Given the description of an element on the screen output the (x, y) to click on. 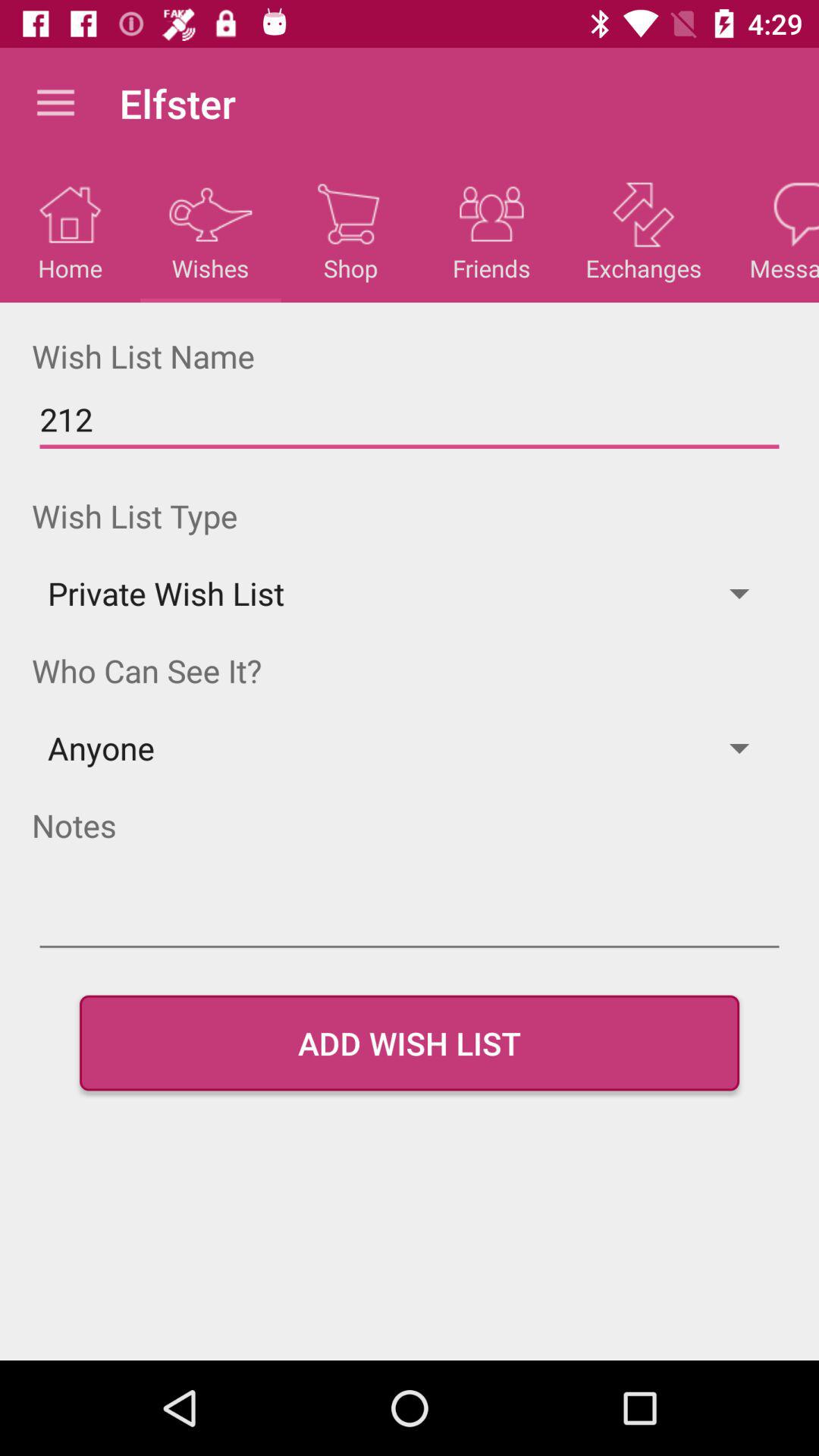
choose the item next to the elfster app (55, 103)
